Given the description of an element on the screen output the (x, y) to click on. 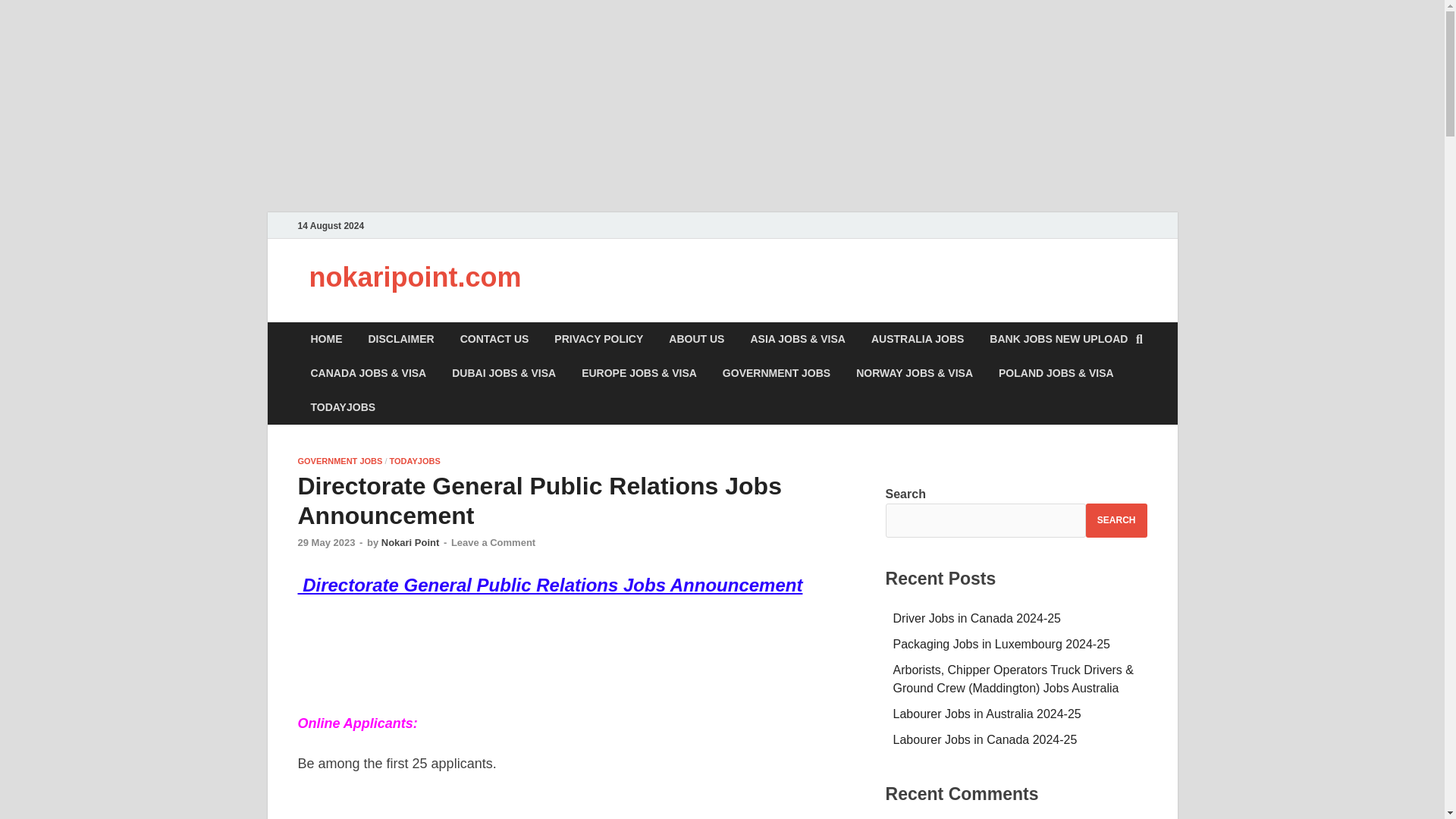
AUSTRALIA JOBS (917, 339)
ABOUT US (696, 339)
TODAYJOBS (342, 407)
Nokari Point (410, 542)
PRIVACY POLICY (598, 339)
Leave a Comment (493, 542)
HOME (326, 339)
TODAYJOBS (415, 461)
CONTACT US (493, 339)
GOVERNMENT JOBS (339, 461)
